Given the description of an element on the screen output the (x, y) to click on. 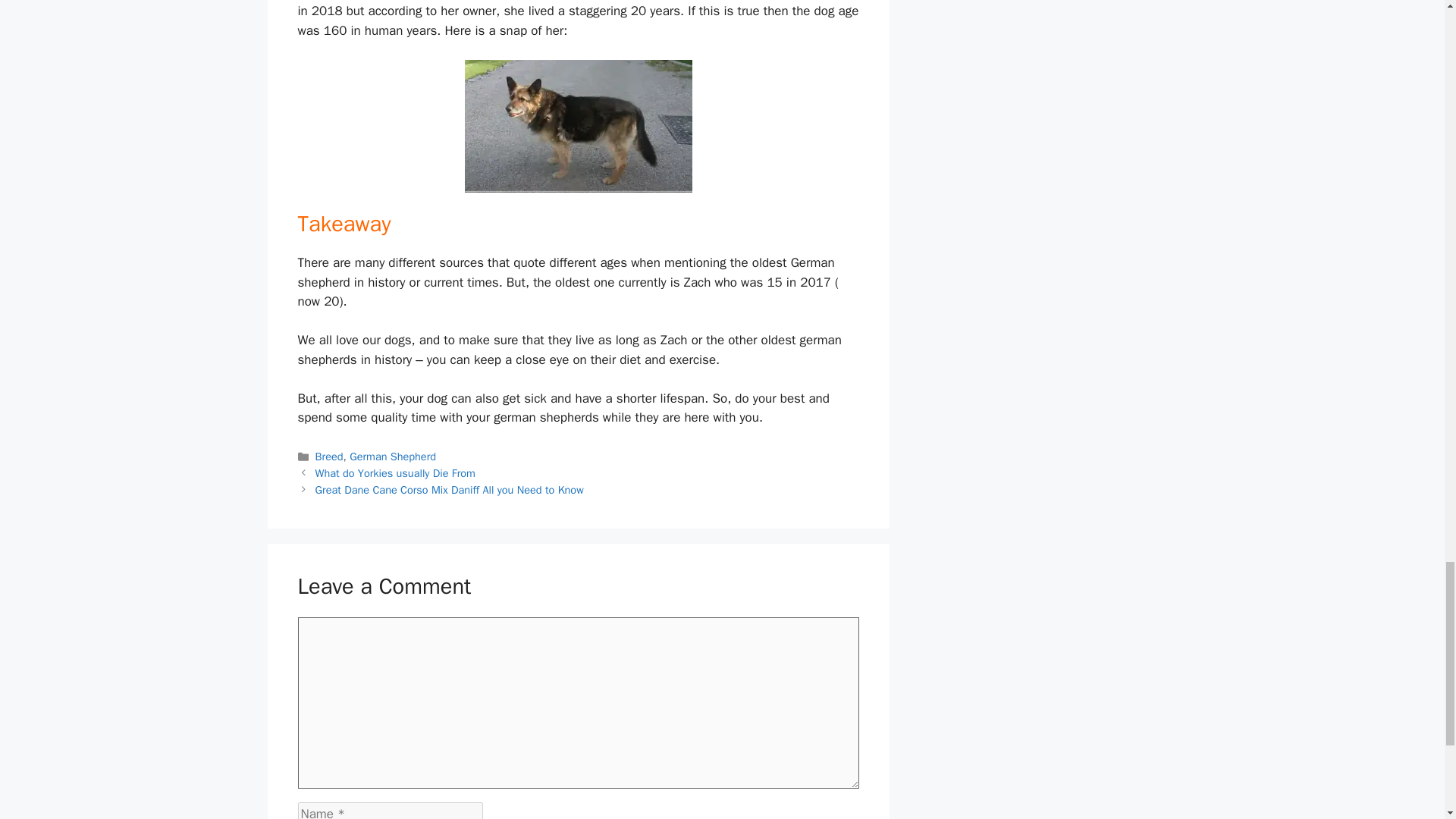
Next (449, 489)
Breed (329, 456)
Previous (395, 472)
Great Dane Cane Corso Mix Daniff All you Need to Know (449, 489)
German Shepherd (392, 456)
What do Yorkies usually Die From (395, 472)
